Given the description of an element on the screen output the (x, y) to click on. 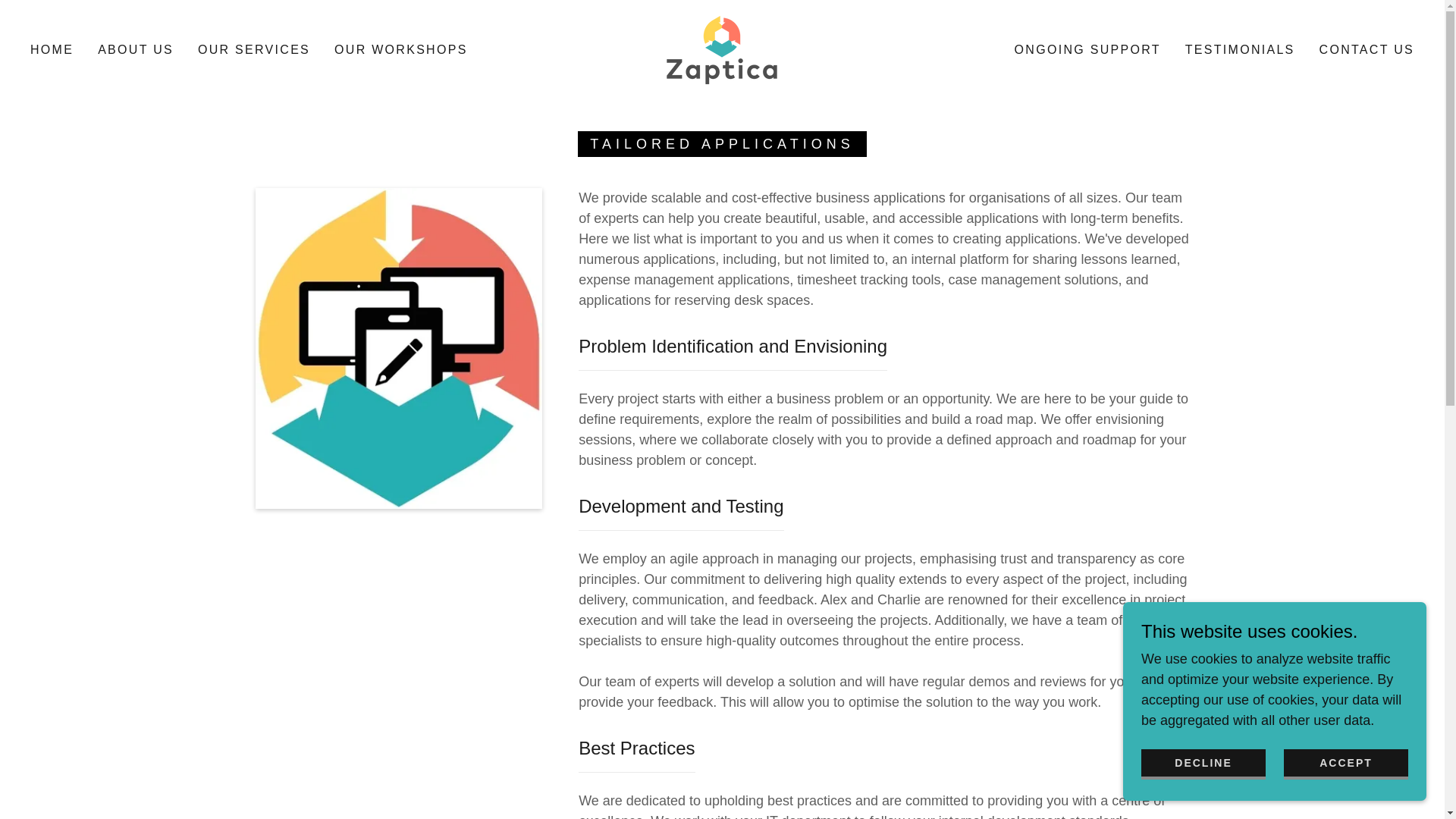
TESTIMONIALS (1240, 49)
CONTACT US (1366, 49)
HOME (52, 49)
ABOUT US (135, 49)
Zaptica (721, 48)
ONGOING SUPPORT (1088, 49)
OUR WORKSHOPS (400, 49)
ACCEPT (1345, 764)
OUR SERVICES (253, 49)
DECLINE (1203, 764)
